Given the description of an element on the screen output the (x, y) to click on. 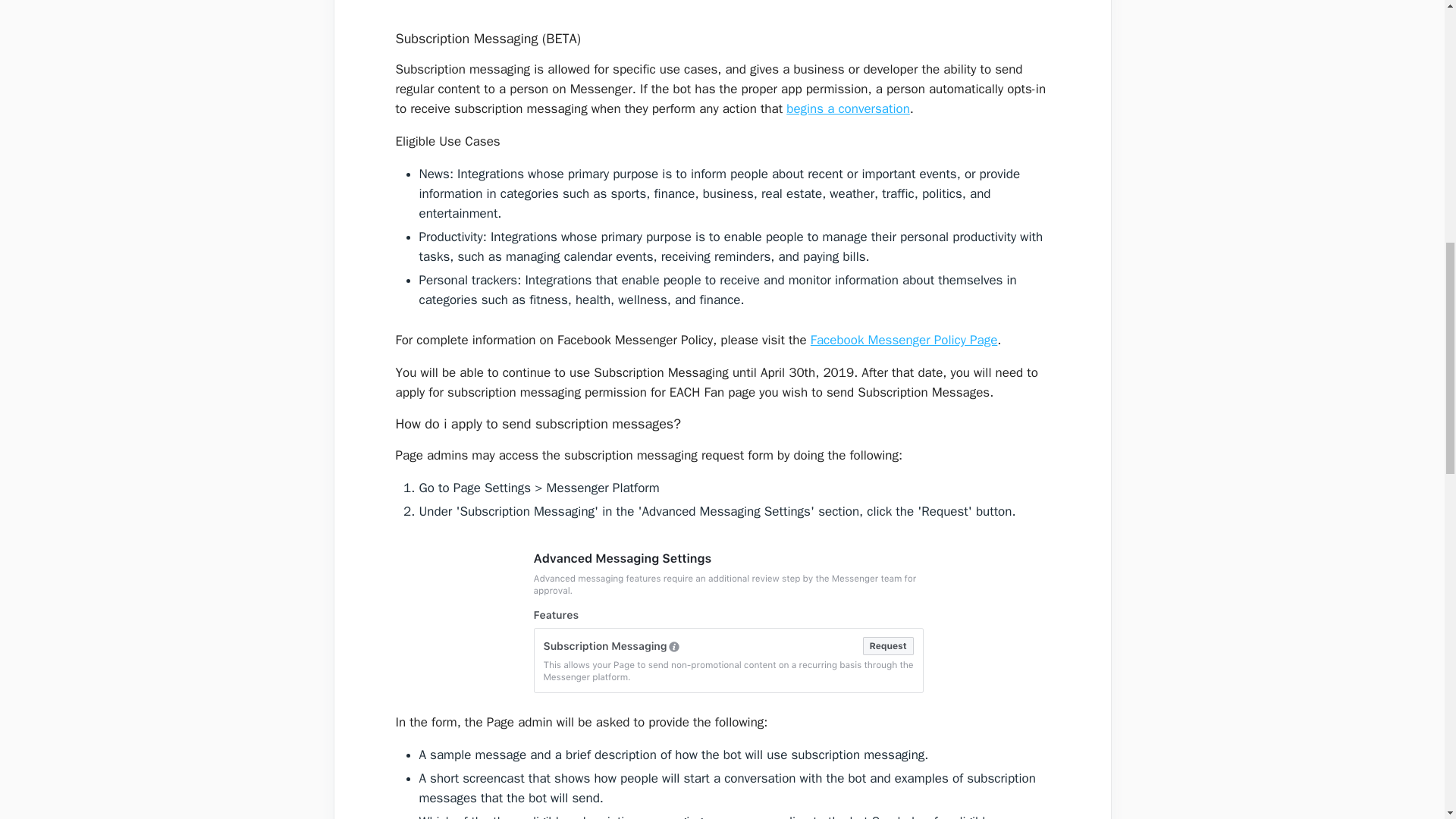
Facebook Messenger Policy Page (903, 340)
begins a conversation (848, 108)
